Given the description of an element on the screen output the (x, y) to click on. 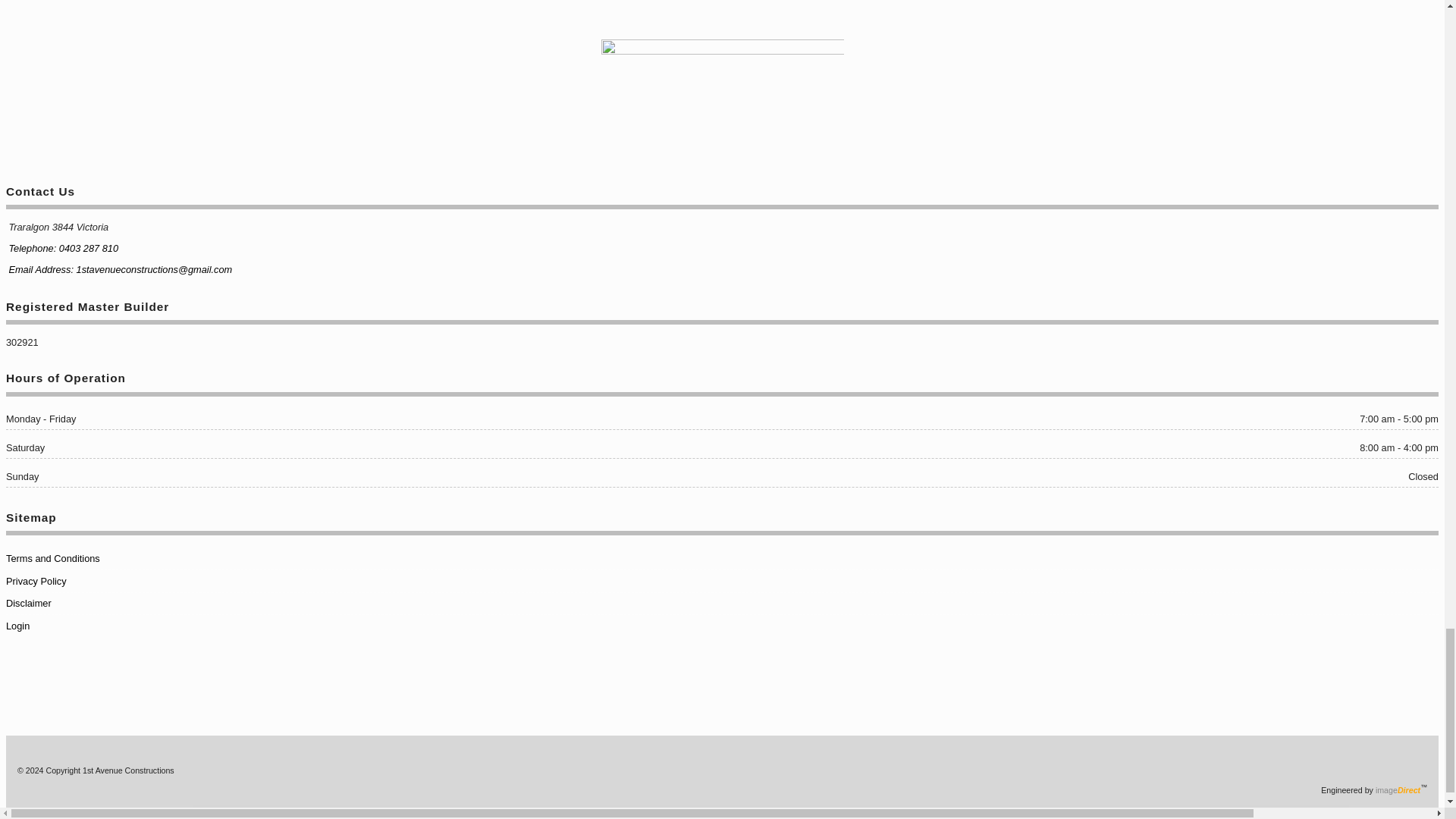
home (721, 100)
Create the perfect place for you and your family. (128, 769)
